Given the description of an element on the screen output the (x, y) to click on. 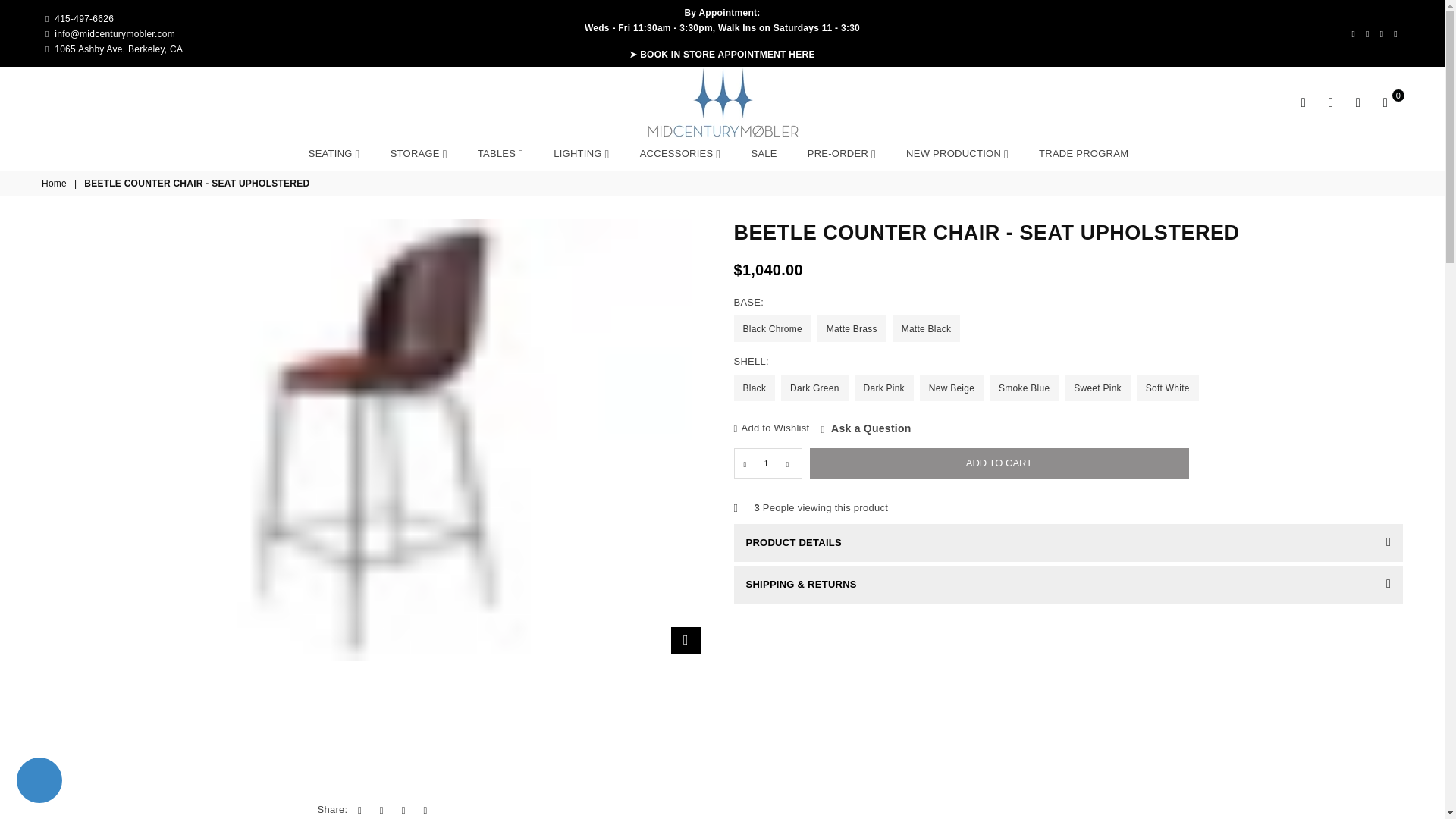
Back to the home page (55, 183)
Mid Century Mobler on Instagram (1396, 33)
Quantity (767, 462)
Pinterest (1381, 33)
Wishlist (1357, 101)
Search (1303, 101)
Settings (1330, 101)
Instagram (1396, 33)
SEATING (334, 153)
Mid Century Mobler on Twitter (1366, 33)
Mid Century Mobler on Pinterest (1381, 33)
MID CENTURY MOBLER (721, 102)
0 (1385, 101)
STORAGE (418, 153)
Facebook (1352, 33)
